Given the description of an element on the screen output the (x, y) to click on. 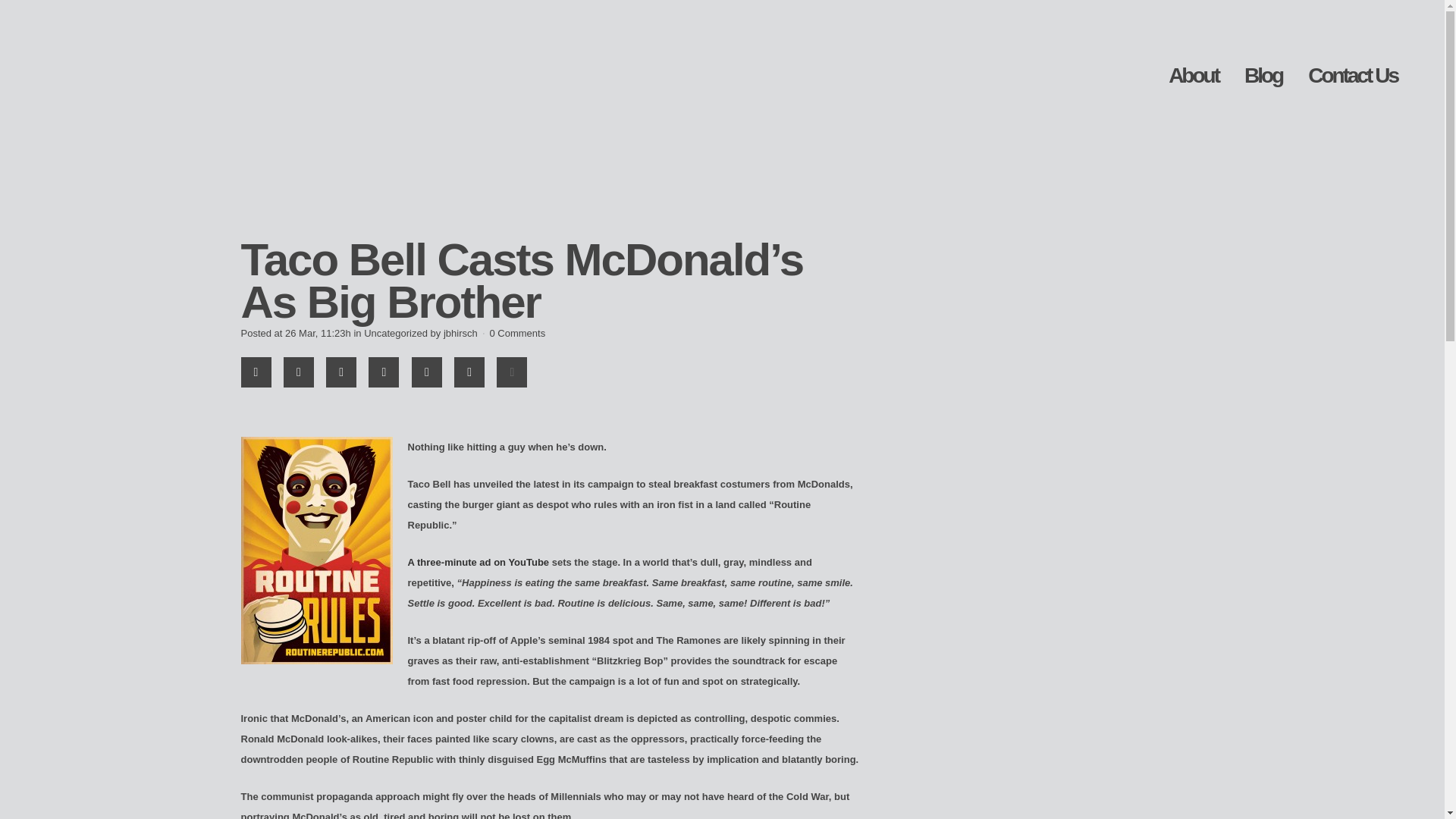
A three-minute ad on YouTube (478, 562)
0 Comments (516, 333)
Uncategorized (396, 333)
jbhirsch (460, 333)
